Given the description of an element on the screen output the (x, y) to click on. 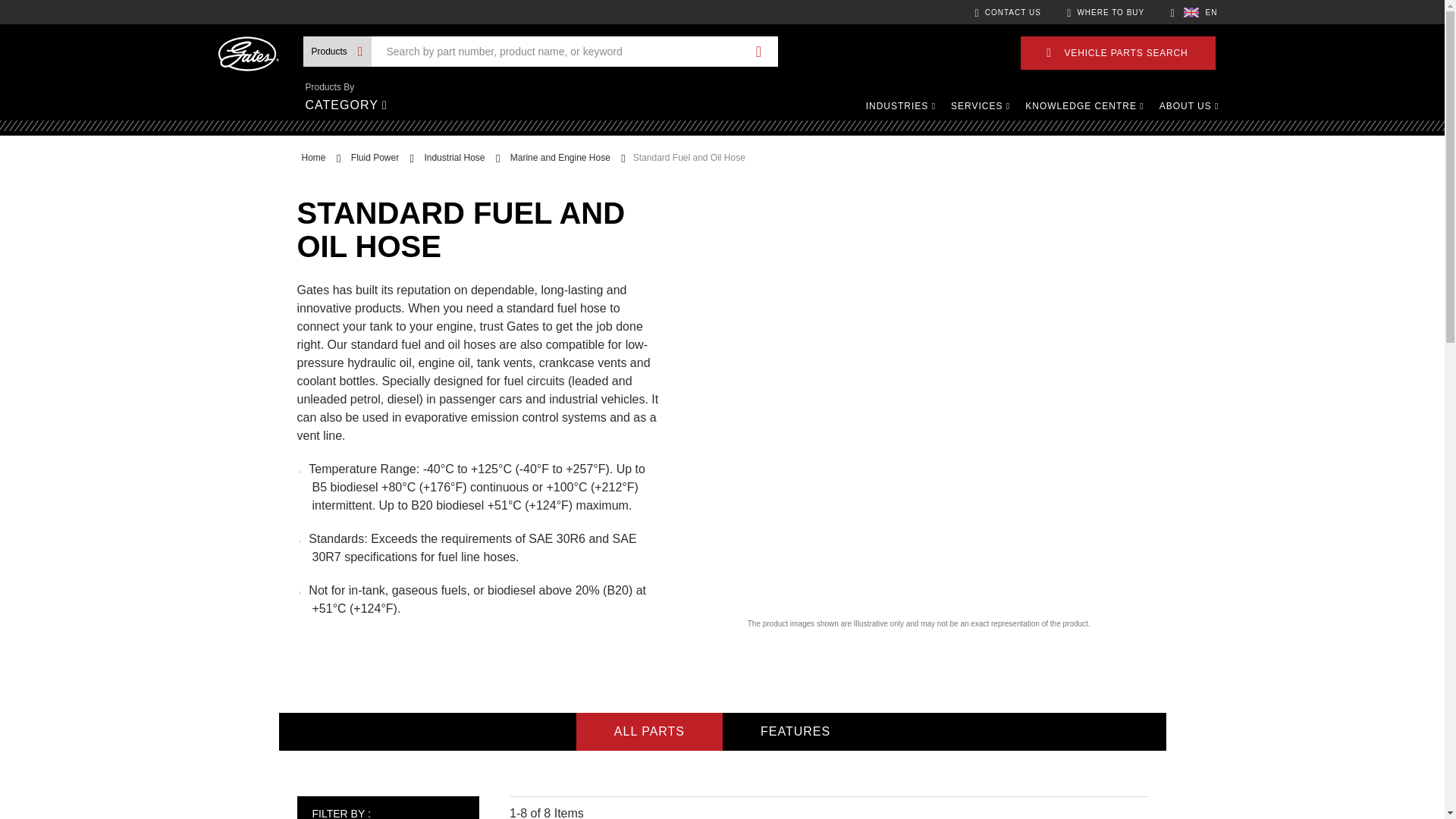
Standard Fuel and Oil Hose (689, 157)
Fluid Power (374, 157)
EN (1193, 11)
VEHICLE PARTS SEARCH (1117, 52)
WHERE TO BUY (1105, 12)
Marine and Engine Hose (560, 157)
Industrial Hose (453, 157)
CONTACT US (1008, 12)
Home (313, 157)
